Given the description of an element on the screen output the (x, y) to click on. 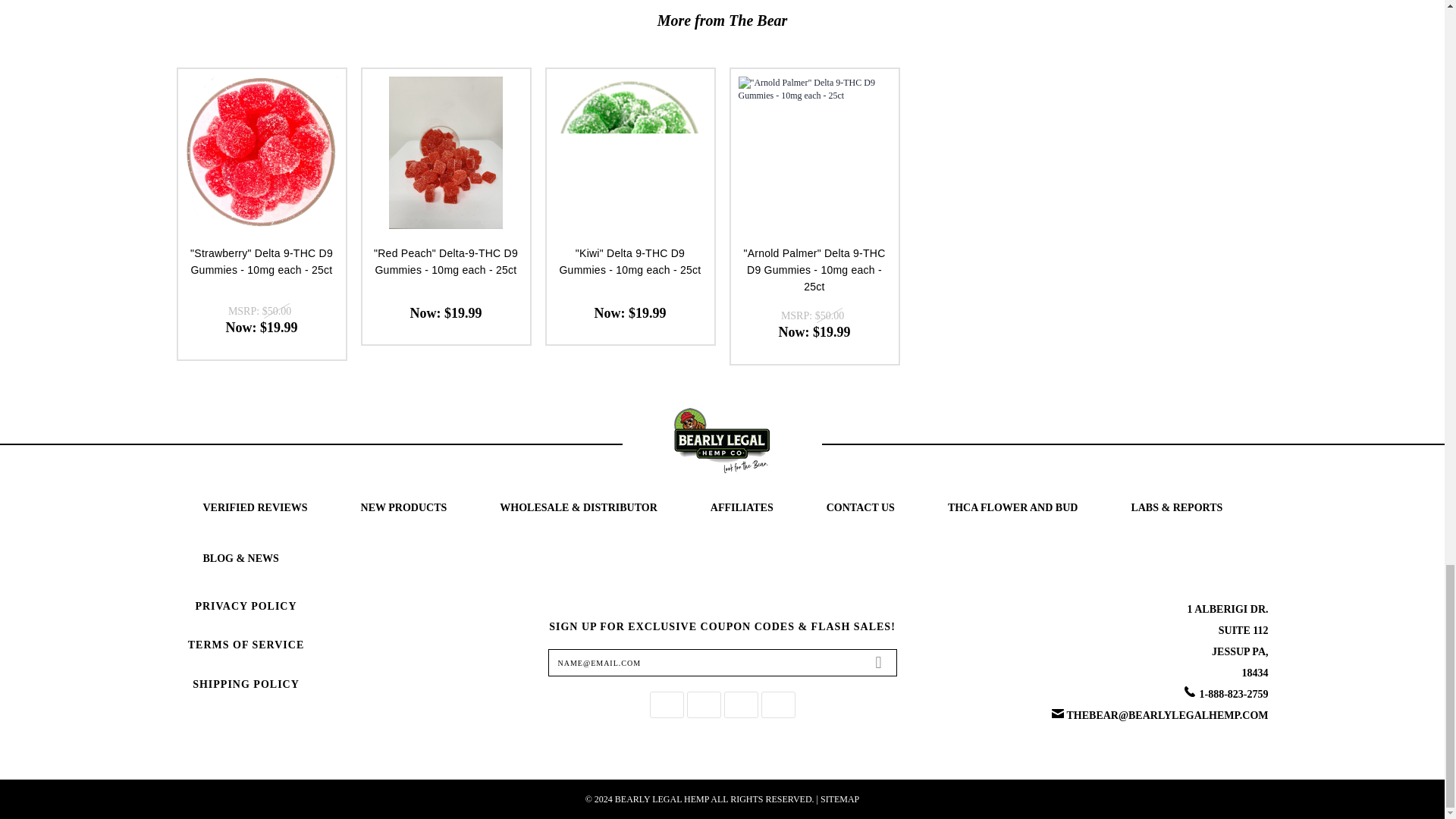
"Strawberry" Delta 9-THC D9 Gummies - 10mg each - 25ct (260, 152)
